Given the description of an element on the screen output the (x, y) to click on. 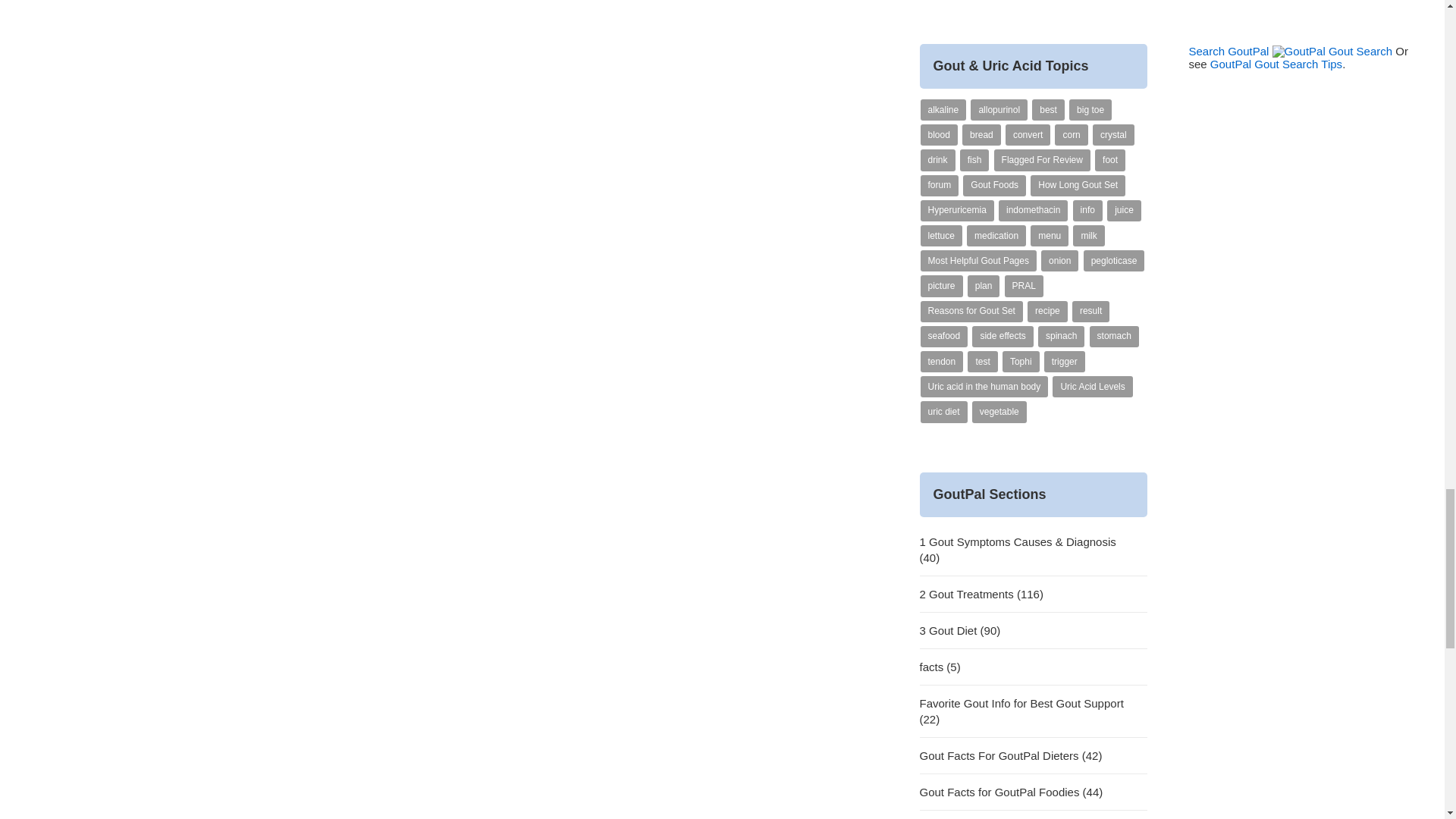
big toe (1090, 109)
blood (939, 134)
alkaline (943, 109)
best (1048, 109)
allopurinol (999, 109)
